Given the description of an element on the screen output the (x, y) to click on. 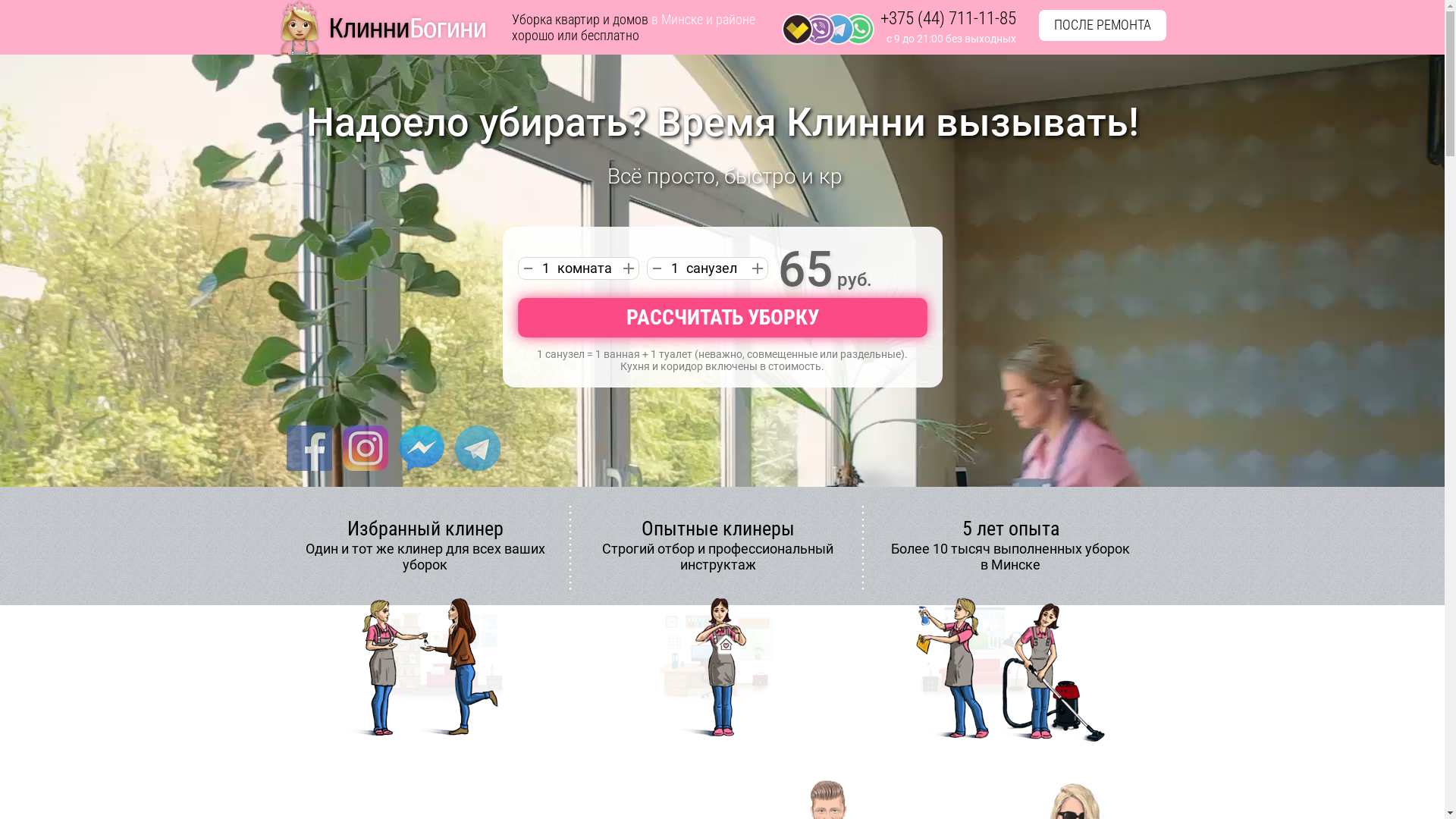
+375 (44) 711-11-85 Element type: text (947, 18)
